Given the description of an element on the screen output the (x, y) to click on. 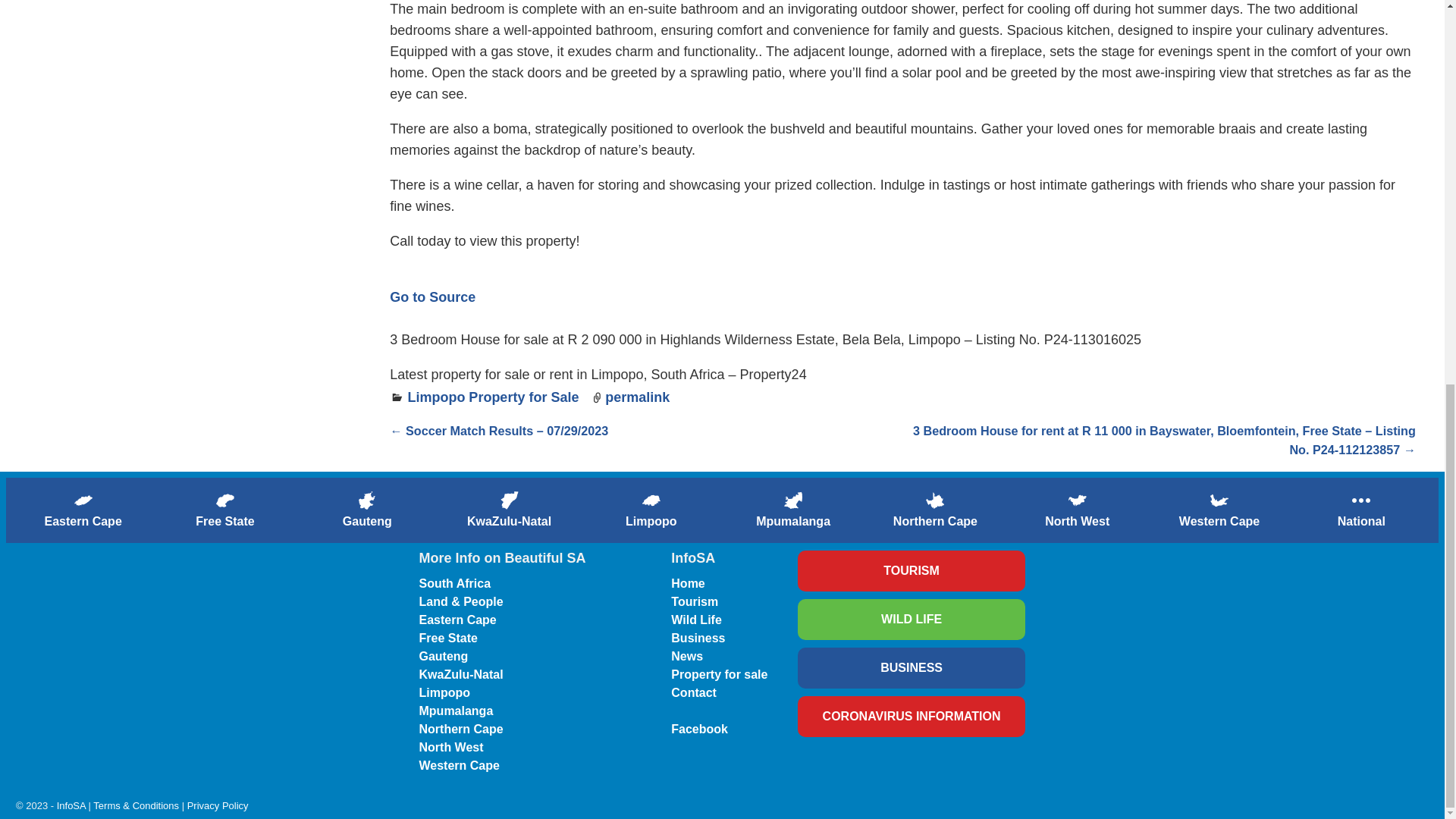
View Listings in KwaZulu-Natal  (509, 500)
View Listings in the Eastern Cape (82, 510)
View Listings in the Free State (224, 500)
View Listings in Gauteng (366, 500)
View Listings in Limpopo (651, 500)
View Listings in Limpopo (650, 510)
View Listings in the Eastern Cape (83, 500)
View Listings in KwaZulu-Natal  (508, 510)
View Listings in Gauteng (367, 510)
View Listings in the Free State (224, 510)
